Given the description of an element on the screen output the (x, y) to click on. 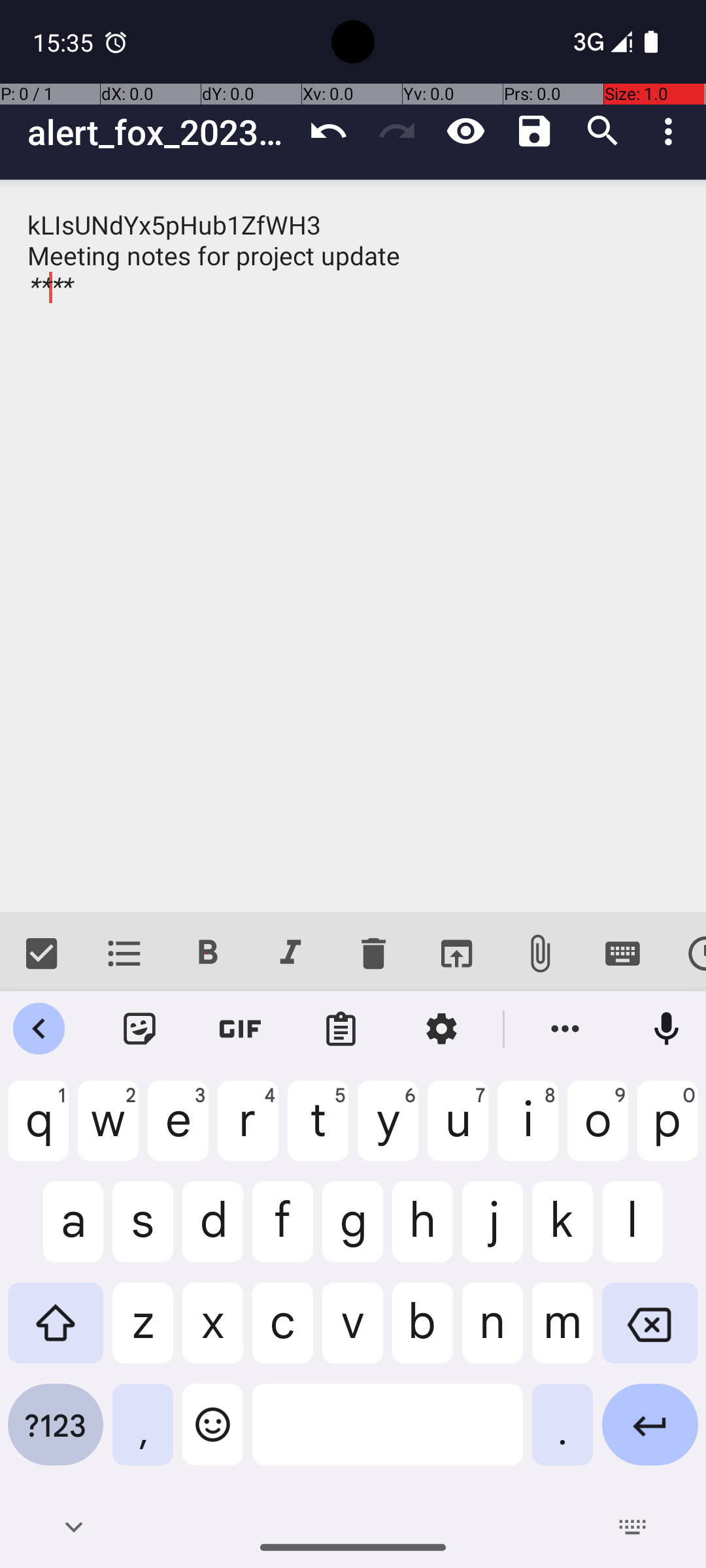
alert_fox_2023_01_10 Element type: android.widget.TextView (160, 131)
kLIsUNdYx5pHub1ZfWH3
Meeting notes for project update
**** Element type: android.widget.EditText (353, 545)
